Given the description of an element on the screen output the (x, y) to click on. 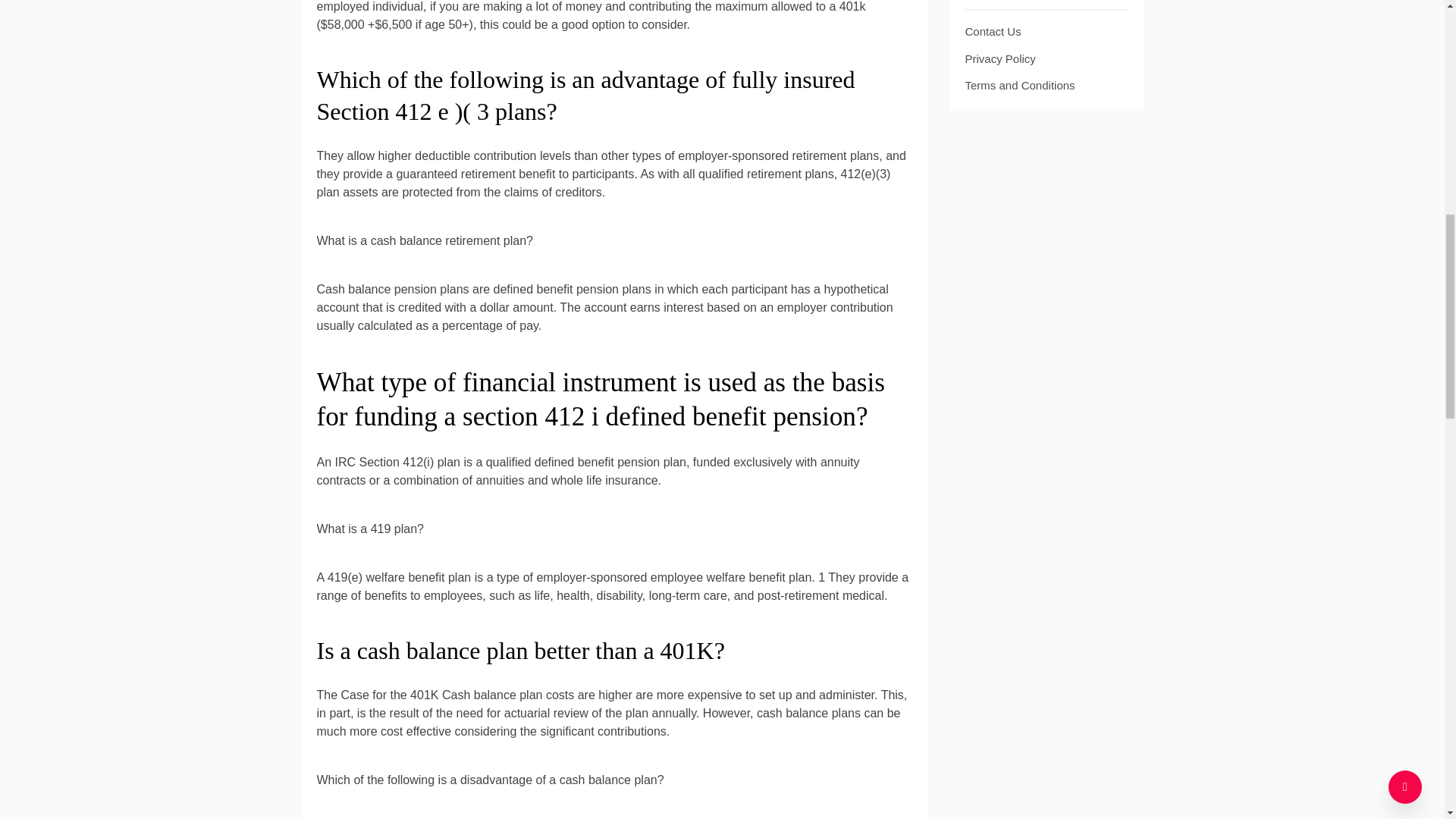
Privacy Policy (999, 58)
Contact Us (991, 31)
Terms and Conditions (1018, 84)
